Given the description of an element on the screen output the (x, y) to click on. 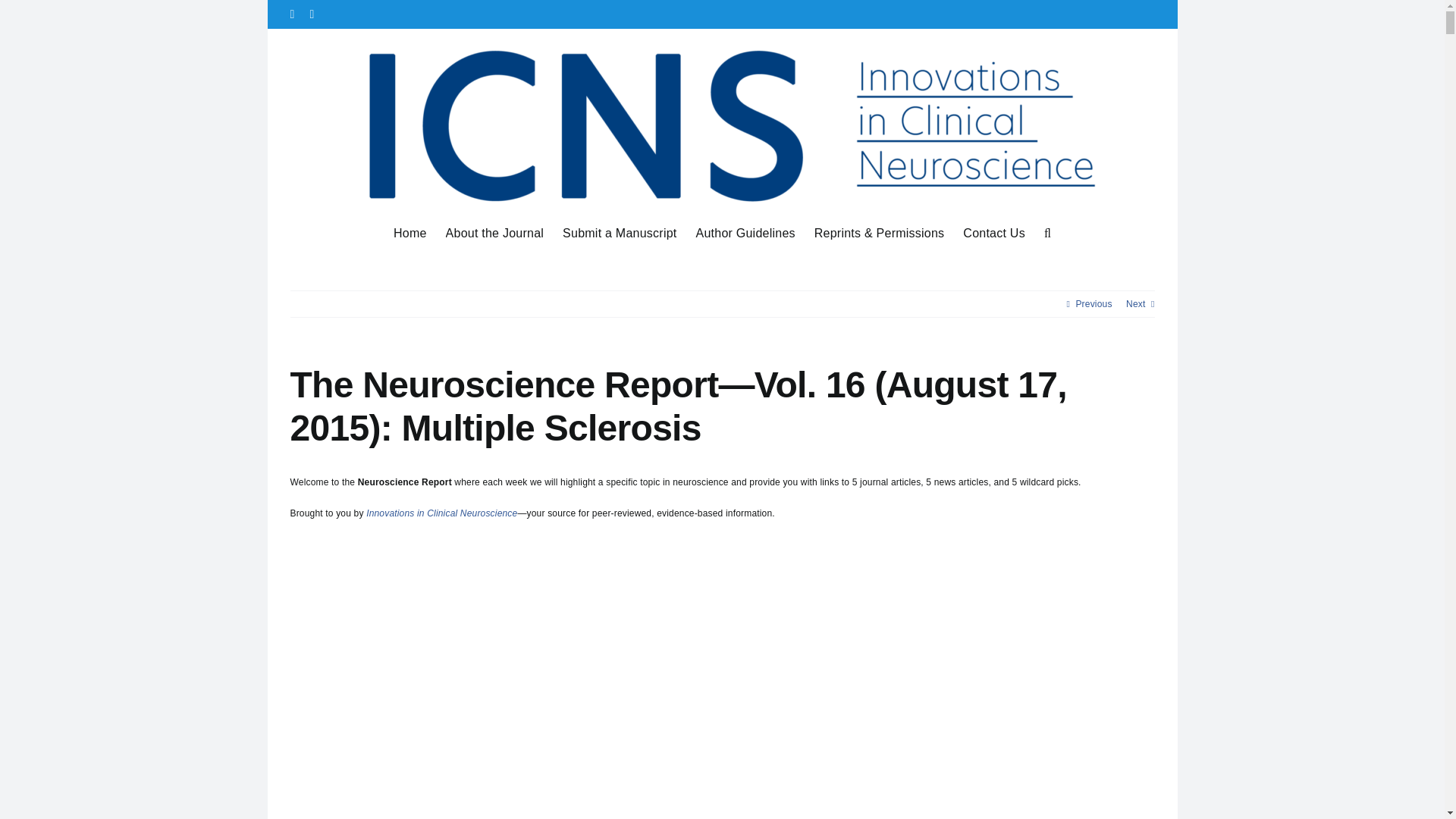
Author Guidelines (744, 232)
Next (1134, 303)
Previous (1093, 303)
About the Journal (494, 232)
Submit a Manuscript (619, 232)
Innovations in Clinical Neuroscience (441, 512)
Contact Us (993, 232)
Search (1047, 232)
Home (409, 232)
